Given the description of an element on the screen output the (x, y) to click on. 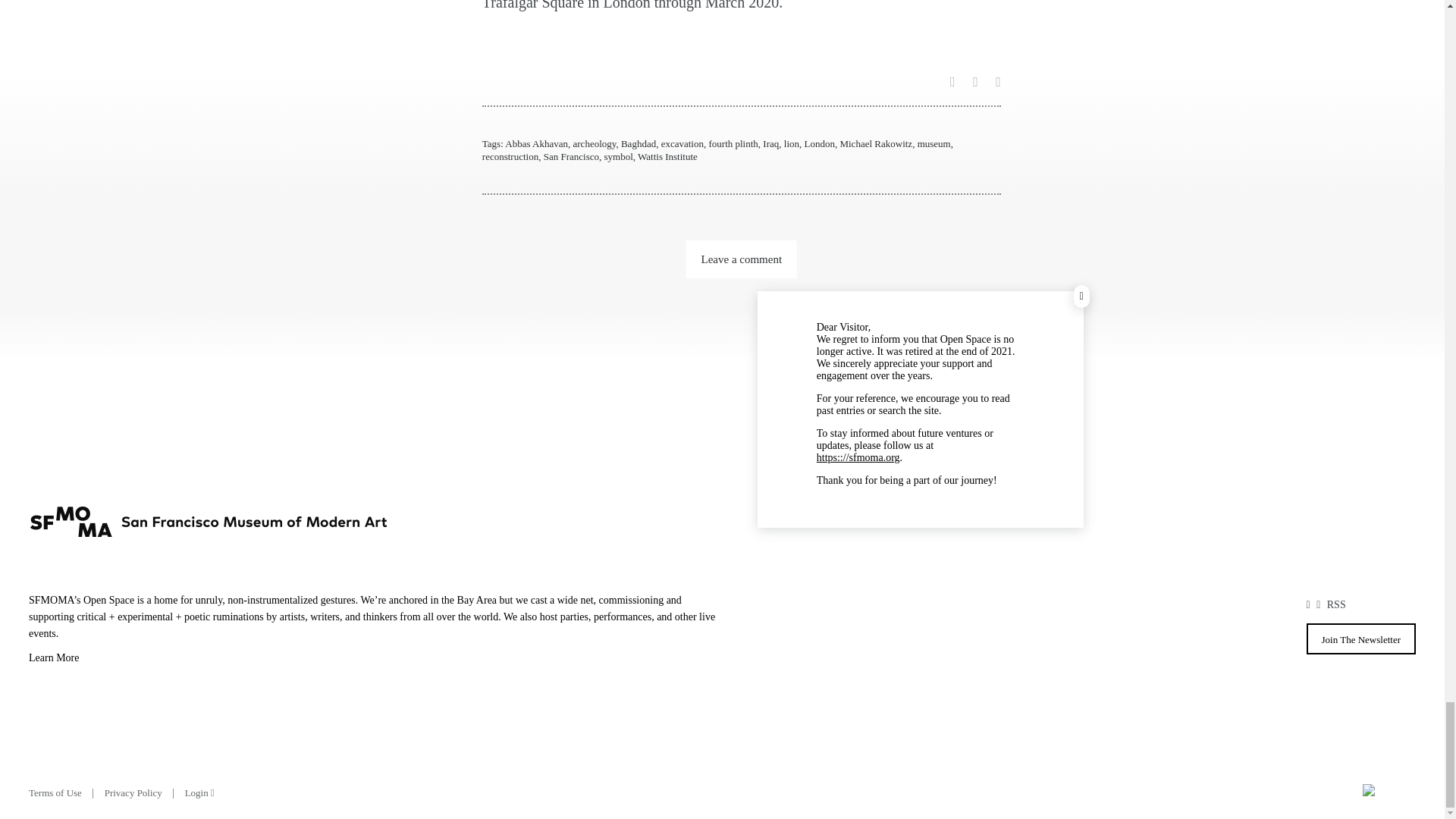
Join The Newsletter (1360, 638)
symbol (617, 156)
lion (791, 143)
Wattis Institute (667, 156)
RSS (1335, 604)
Learn More (375, 660)
archeology (594, 143)
reconstruction (509, 156)
excavation (682, 143)
museum (933, 143)
